Given the description of an element on the screen output the (x, y) to click on. 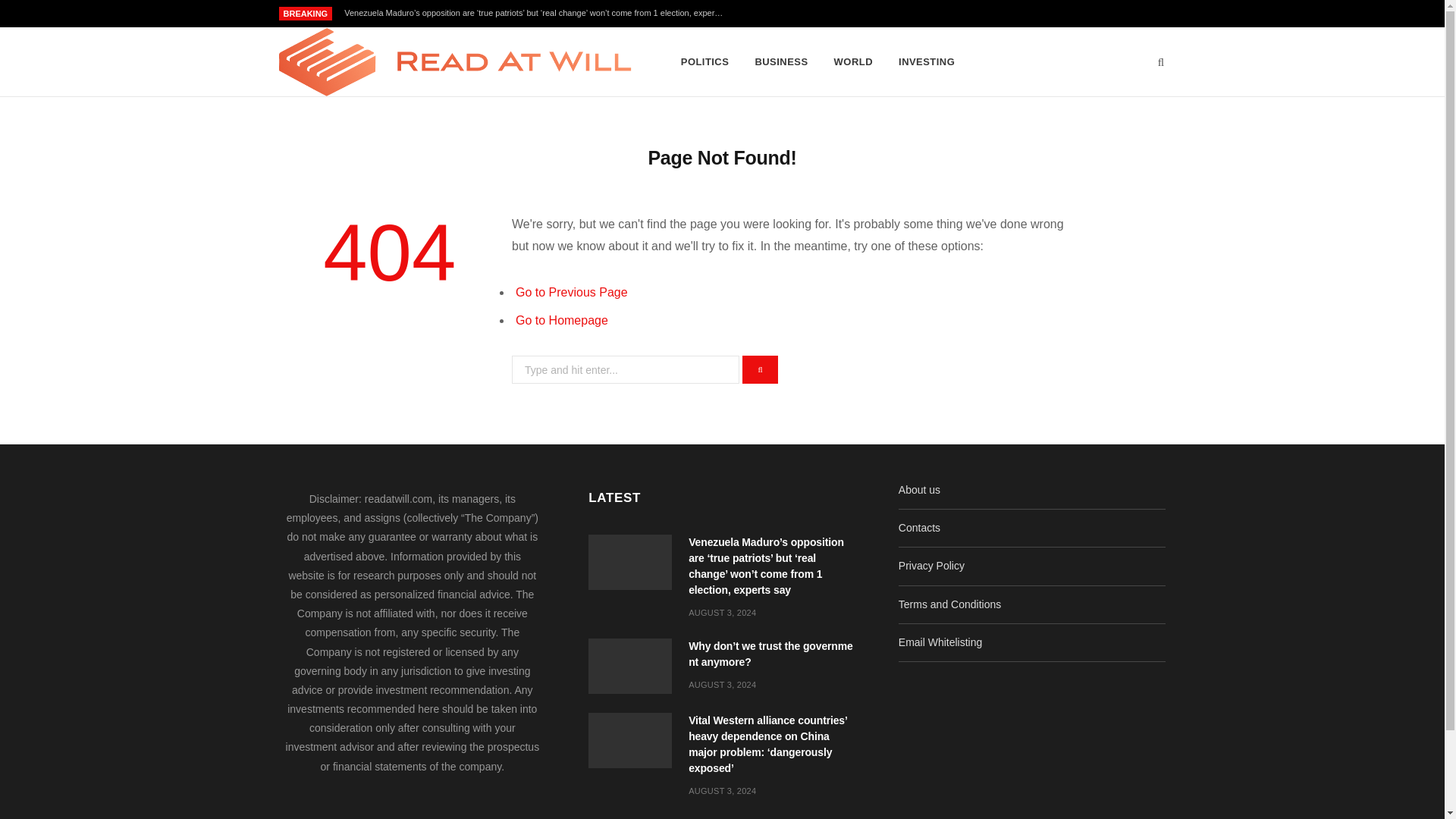
Privacy Policy (930, 565)
Go to Homepage (561, 319)
AUGUST 3, 2024 (721, 684)
Search for: (625, 369)
AUGUST 3, 2024 (721, 790)
Email Whitelisting (939, 642)
About us (919, 490)
Contacts (919, 527)
POLITICS (705, 61)
Terms and Conditions (949, 604)
BUSINESS (780, 61)
Read At Will (455, 61)
AUGUST 3, 2024 (721, 612)
Go to Previous Page (571, 291)
INVESTING (926, 61)
